Given the description of an element on the screen output the (x, y) to click on. 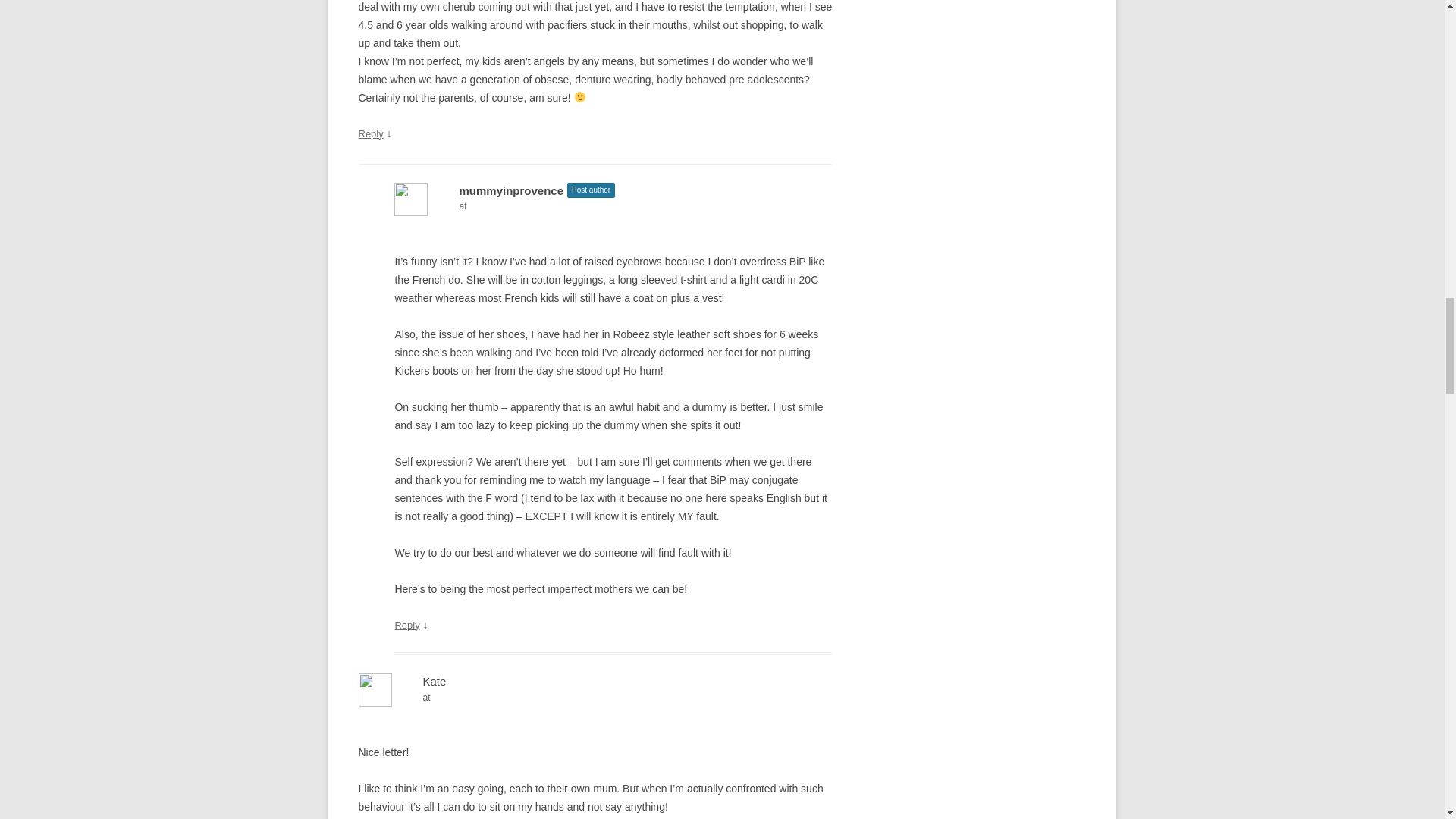
at (612, 206)
at (594, 697)
Reply (406, 624)
Reply (370, 133)
